Given the description of an element on the screen output the (x, y) to click on. 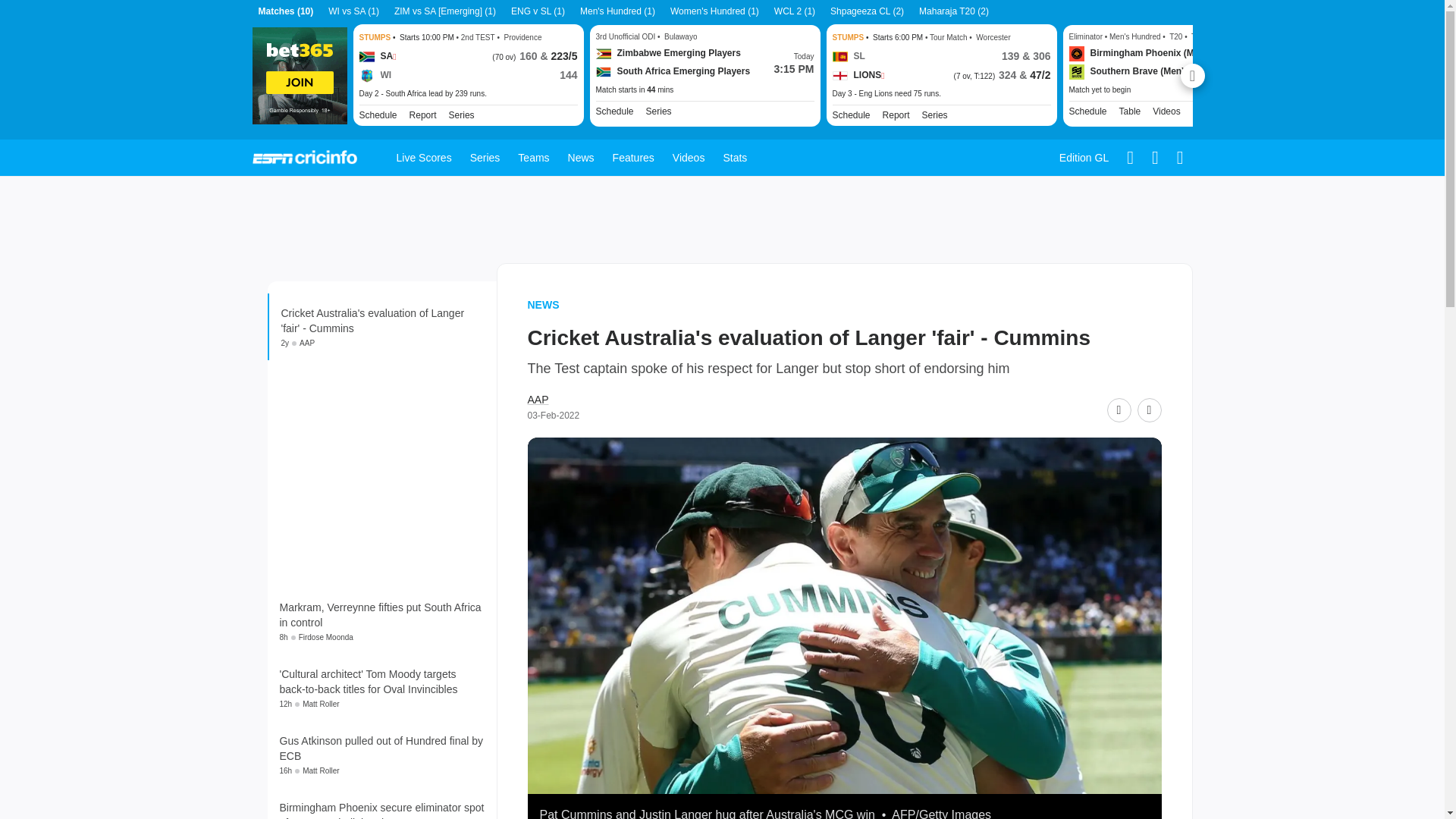
Schedule (614, 110)
Report (422, 115)
Videos (1166, 110)
Sri Lanka tour of England (934, 115)
Report (896, 115)
WI vs SA - 2nd Test (468, 93)
South Africa Emerging Players (673, 71)
ZM-EM vs SA-EM - 3rd unofficial ODI (704, 90)
Schedule (1087, 110)
South Africa tour of West Indies (461, 115)
